Given the description of an element on the screen output the (x, y) to click on. 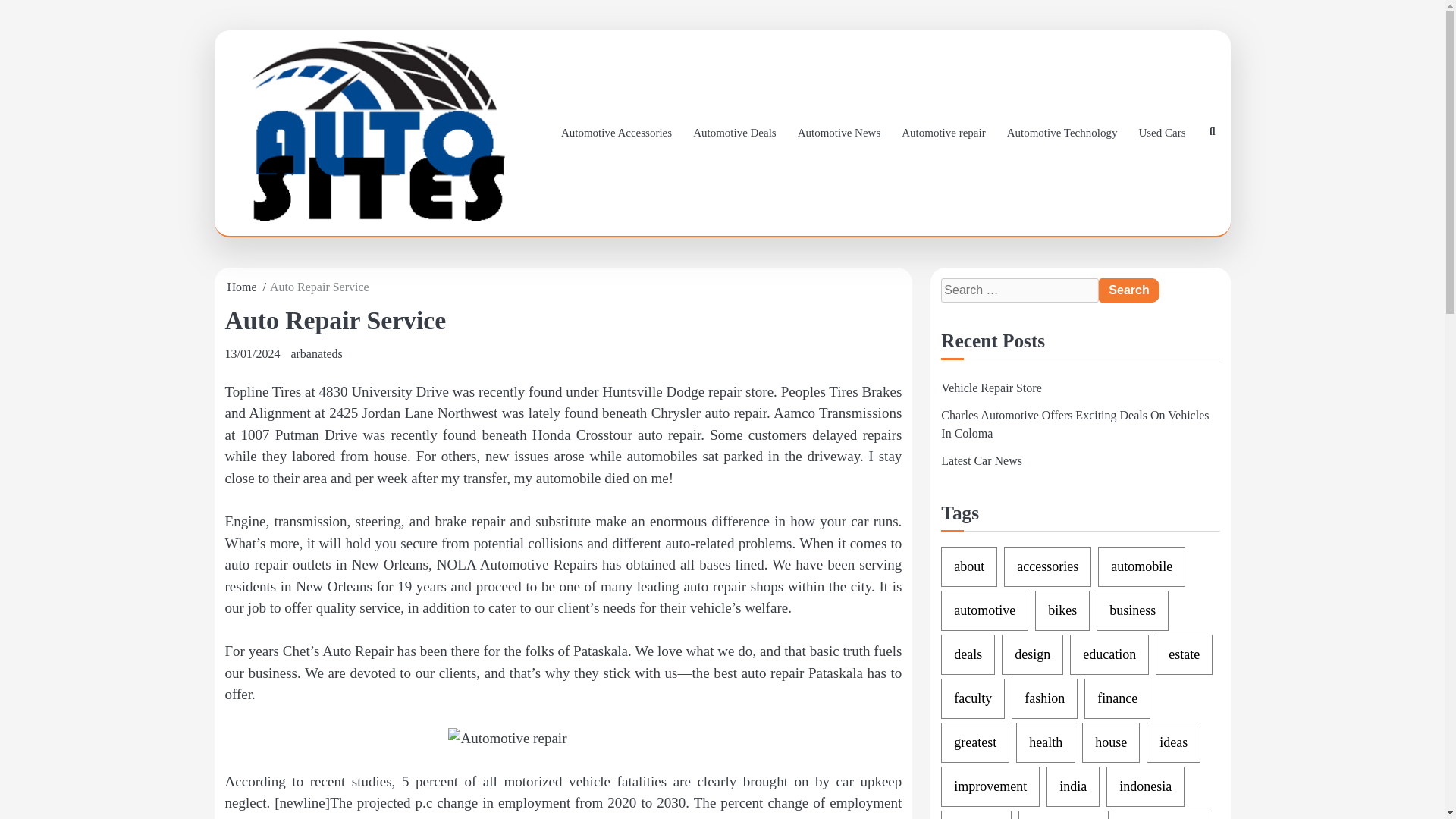
Used Cars (1160, 132)
Home (242, 286)
Automotive Accessories (616, 132)
arbanateds (315, 353)
bikes (1062, 610)
Search (1128, 290)
finance (1117, 698)
automobile (1141, 567)
accessories (1047, 567)
Vehicle Repair Store (990, 387)
